Given the description of an element on the screen output the (x, y) to click on. 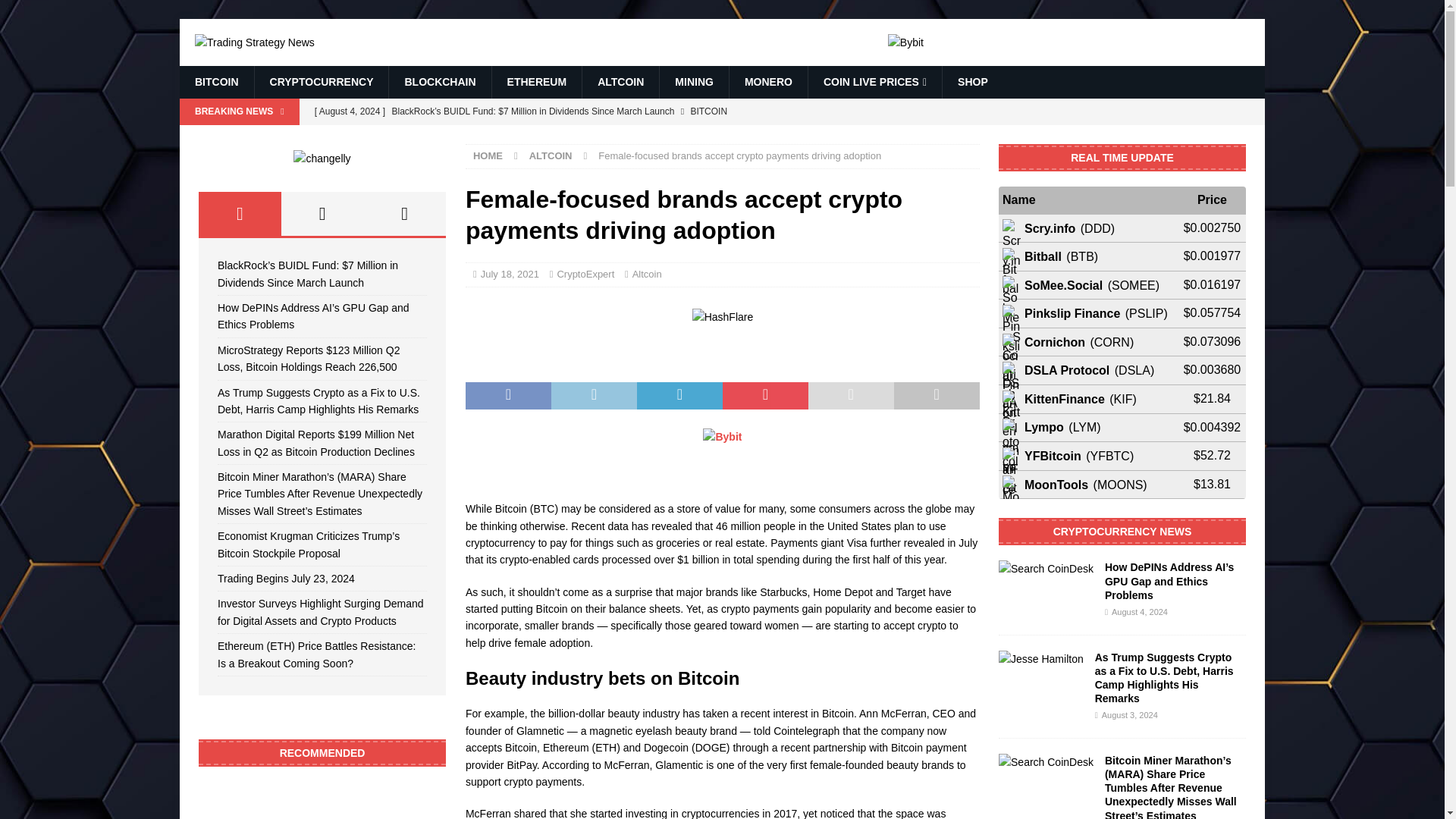
MONERO (768, 81)
CRYPTOCURRENCY (320, 81)
ETHEREUM (537, 81)
MINING (694, 81)
BITCOIN (216, 81)
ALTCOIN (619, 81)
SHOP (972, 81)
COIN LIVE PRICES (875, 81)
BLOCKCHAIN (439, 81)
